Given the description of an element on the screen output the (x, y) to click on. 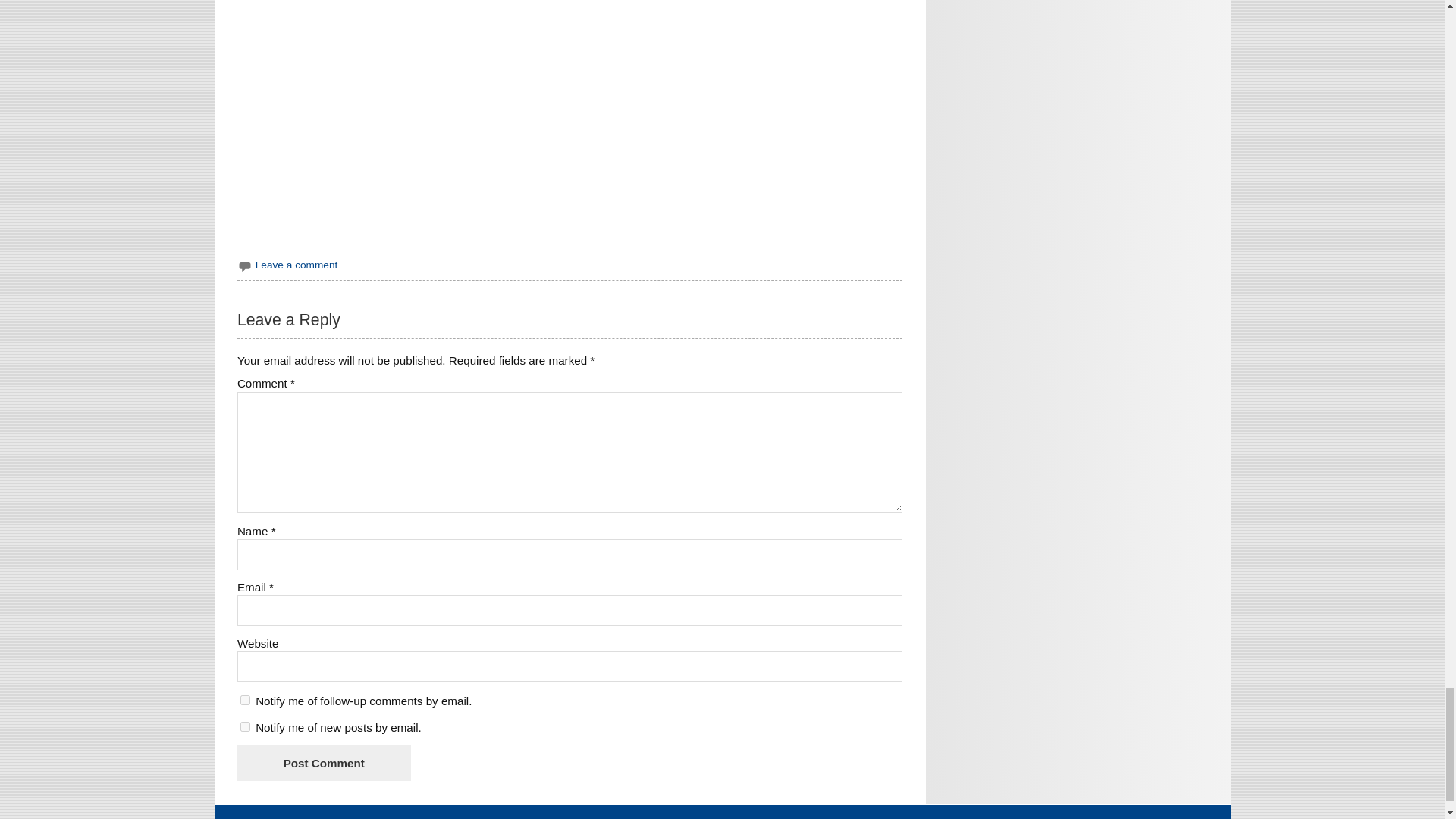
Leave a comment (296, 265)
Post Comment (323, 763)
subscribe (245, 726)
Post Comment (323, 763)
subscribe (245, 700)
